Given the description of an element on the screen output the (x, y) to click on. 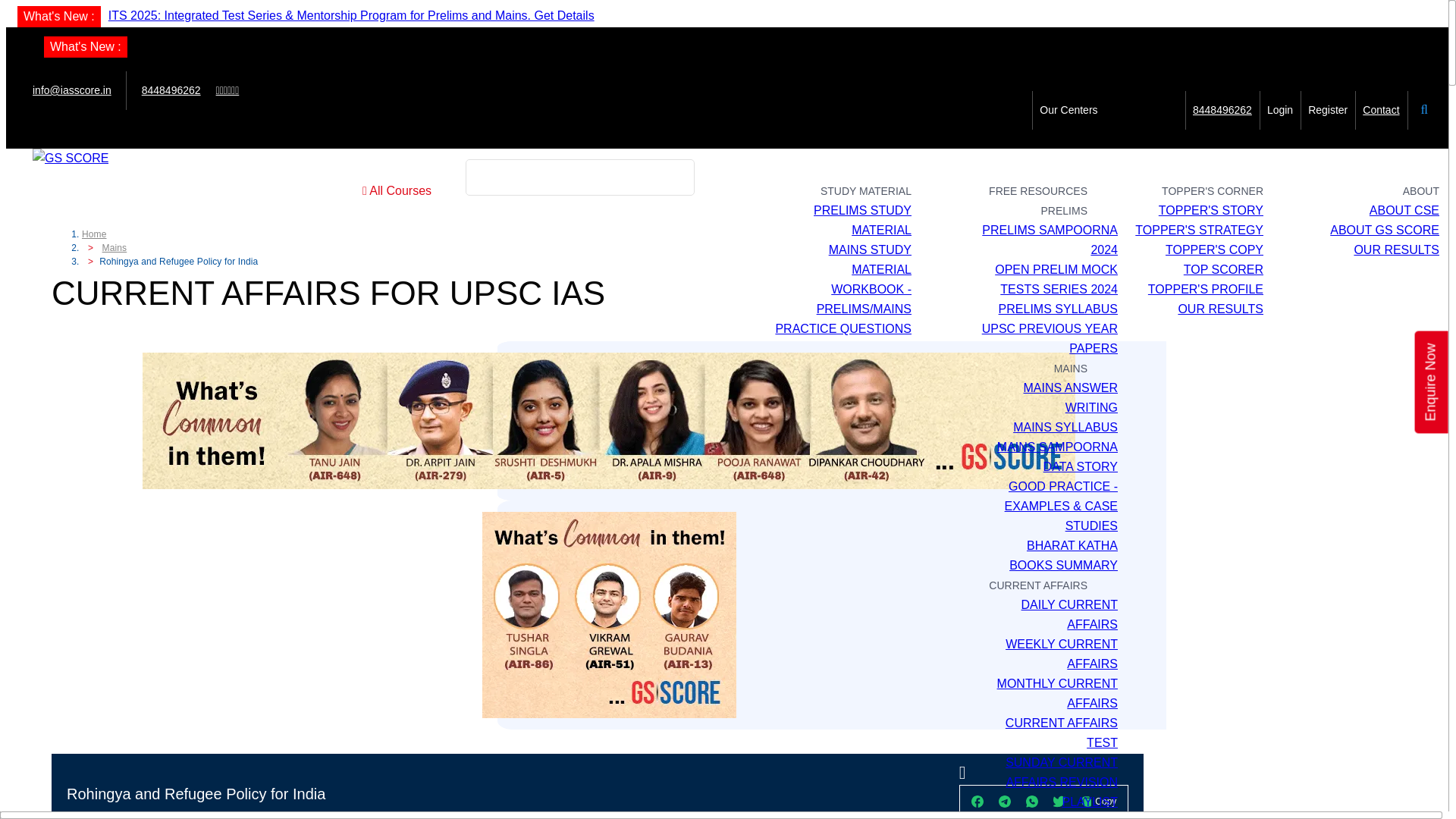
Bhubaneswar (1099, 129)
8448496262 (170, 90)
Delhi (1051, 129)
Login (1279, 110)
Register (1327, 110)
Our Centers (1068, 110)
All Courses (396, 190)
8448496262 (1222, 110)
Lucknow (1156, 129)
Contact (1380, 110)
